Given the description of an element on the screen output the (x, y) to click on. 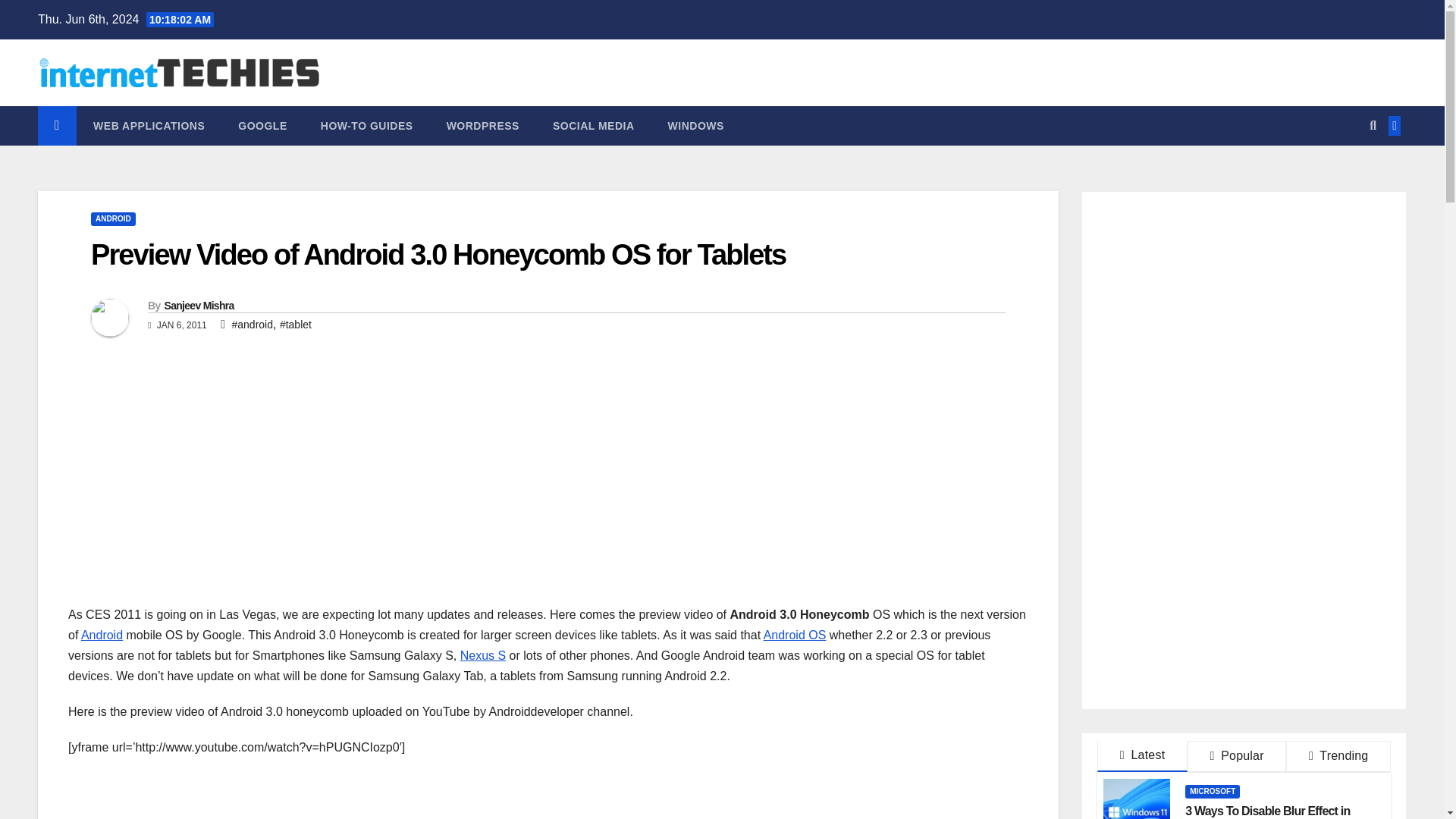
Nexus S (482, 655)
Google (261, 125)
Web Applications (149, 125)
Advertisement (195, 491)
Advertisement (1243, 575)
SOCIAL MEDIA (592, 125)
WordPress (482, 125)
WEB APPLICATIONS (149, 125)
Social Media (592, 125)
ANDROID (112, 219)
WINDOWS (695, 125)
How-To Guides (366, 125)
Android (101, 634)
HOW-TO GUIDES (366, 125)
